Given the description of an element on the screen output the (x, y) to click on. 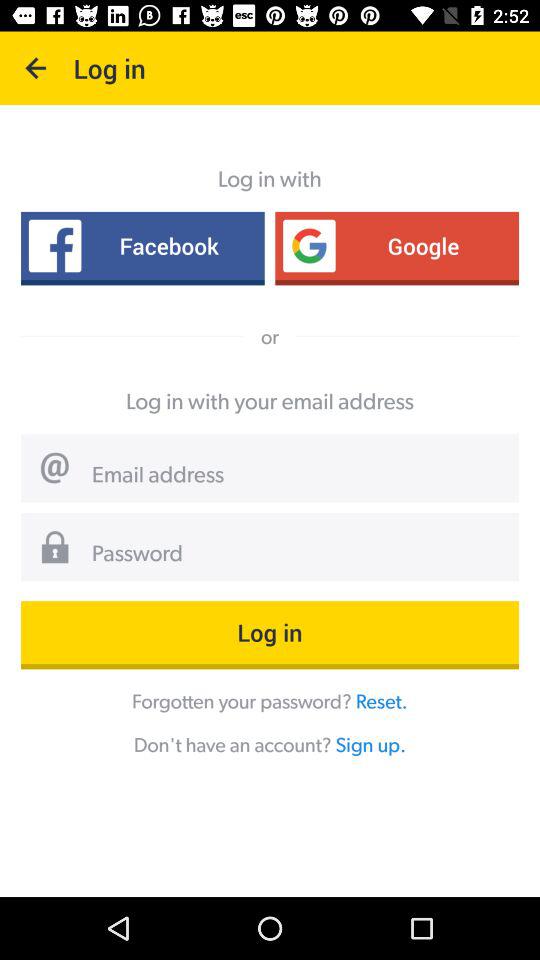
tap icon below forgotten your password?  item (370, 744)
